Given the description of an element on the screen output the (x, y) to click on. 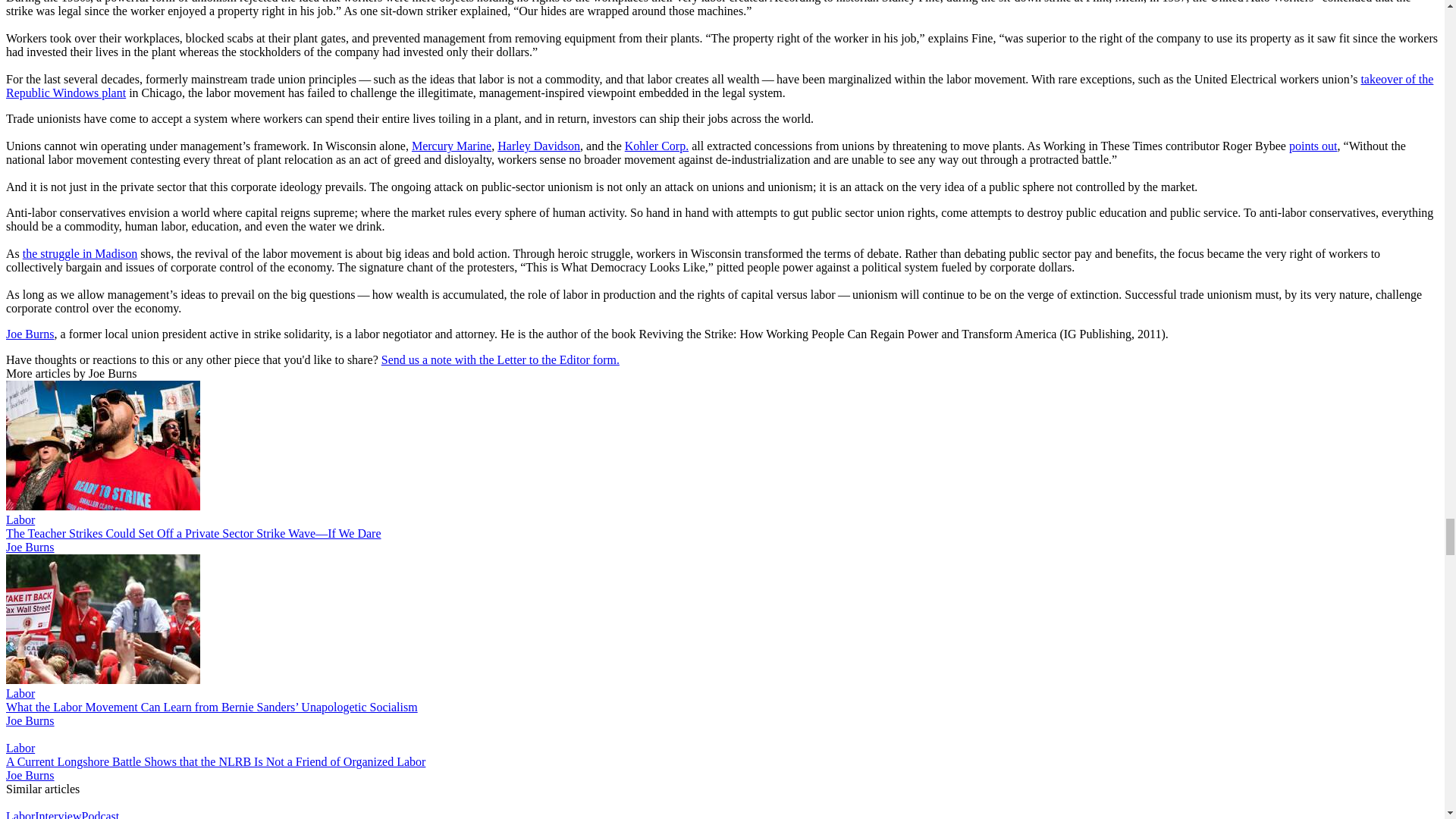
Mercury Marine (452, 145)
Kohler Corp. (656, 145)
Harley Davidson (538, 145)
